Given the description of an element on the screen output the (x, y) to click on. 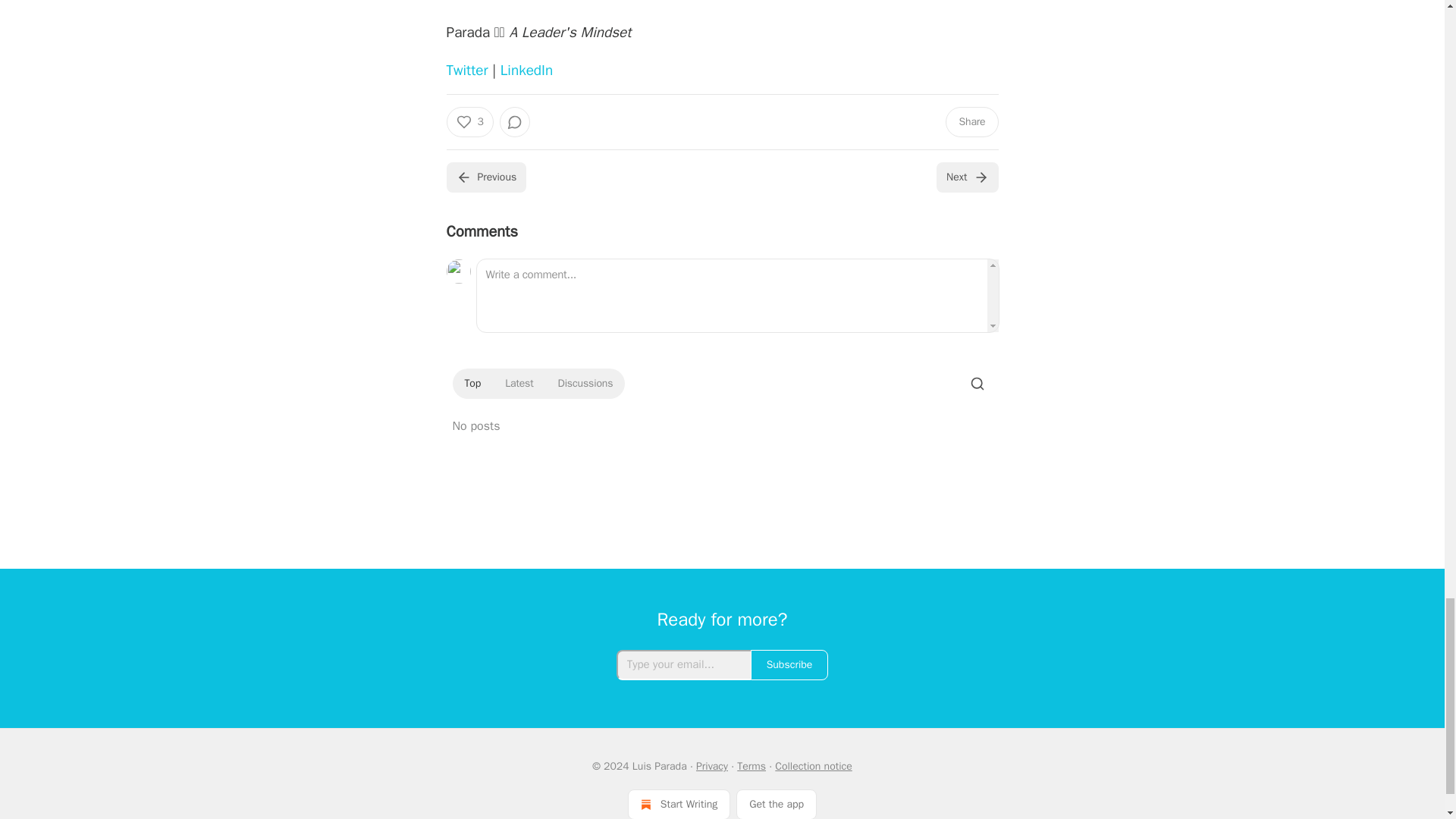
Twitter (466, 70)
LinkedIn (526, 70)
3 (469, 122)
